Given the description of an element on the screen output the (x, y) to click on. 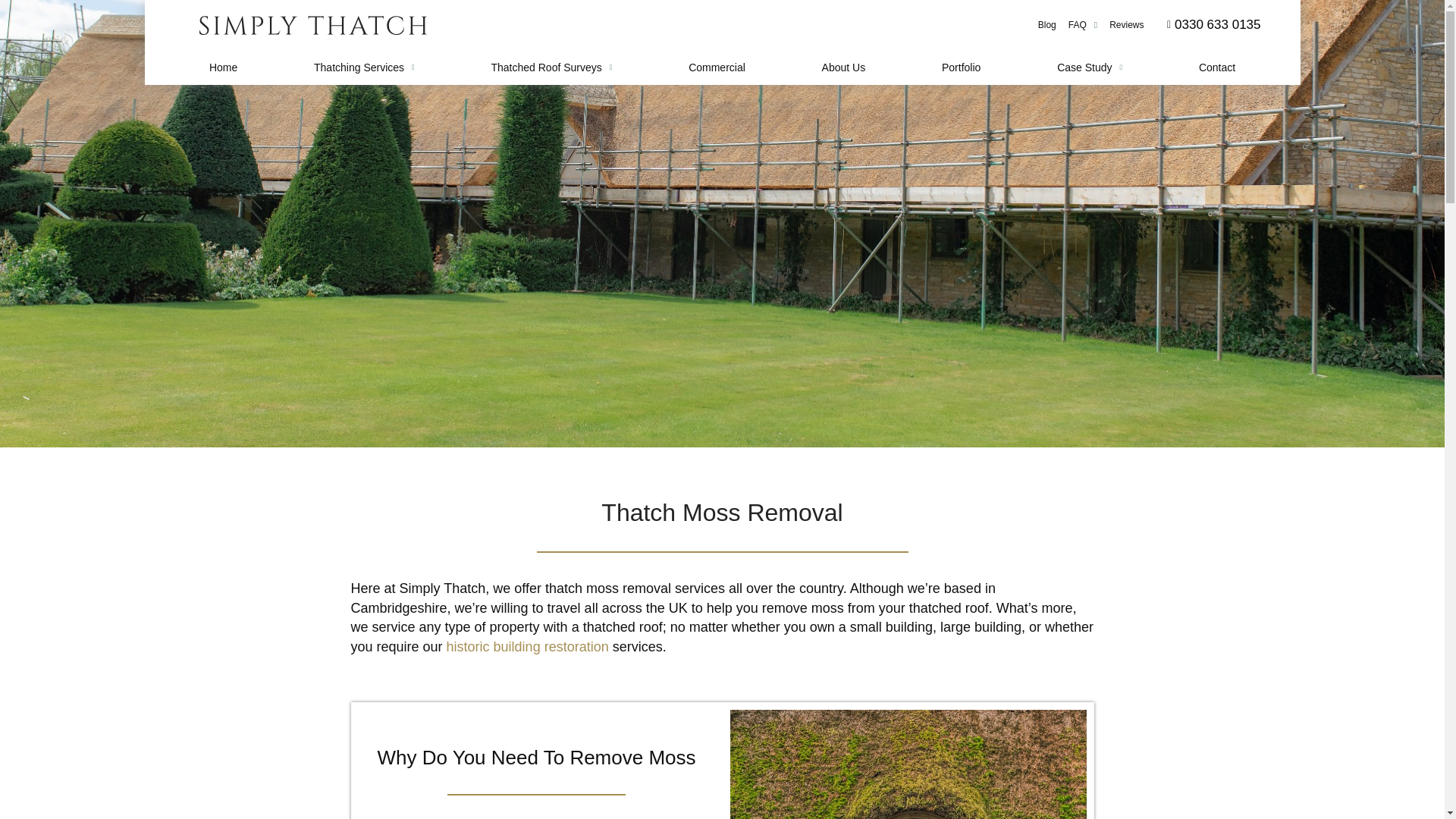
Thatched Roof Surveys (551, 67)
Commercial (716, 67)
Home (222, 67)
About Us (842, 67)
FAQ (1082, 24)
Reviews (1126, 24)
Thatching Services (363, 67)
Case Study (1090, 67)
Portfolio (961, 67)
